Given the description of an element on the screen output the (x, y) to click on. 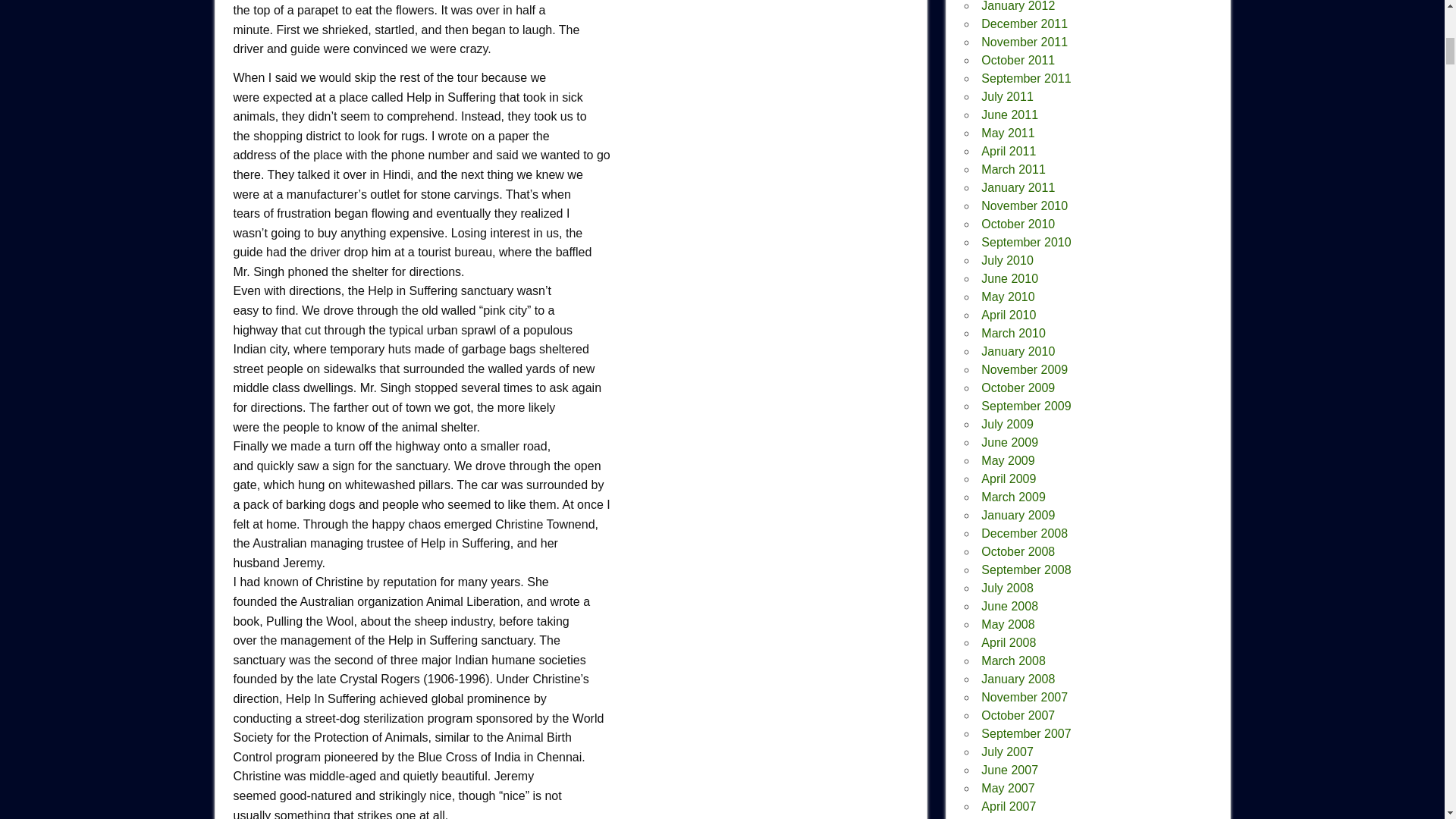
November 2011 (1024, 42)
September 2011 (1025, 78)
July 2011 (1007, 96)
December 2011 (1024, 23)
January 2012 (1017, 6)
October 2011 (1017, 60)
